Given the description of an element on the screen output the (x, y) to click on. 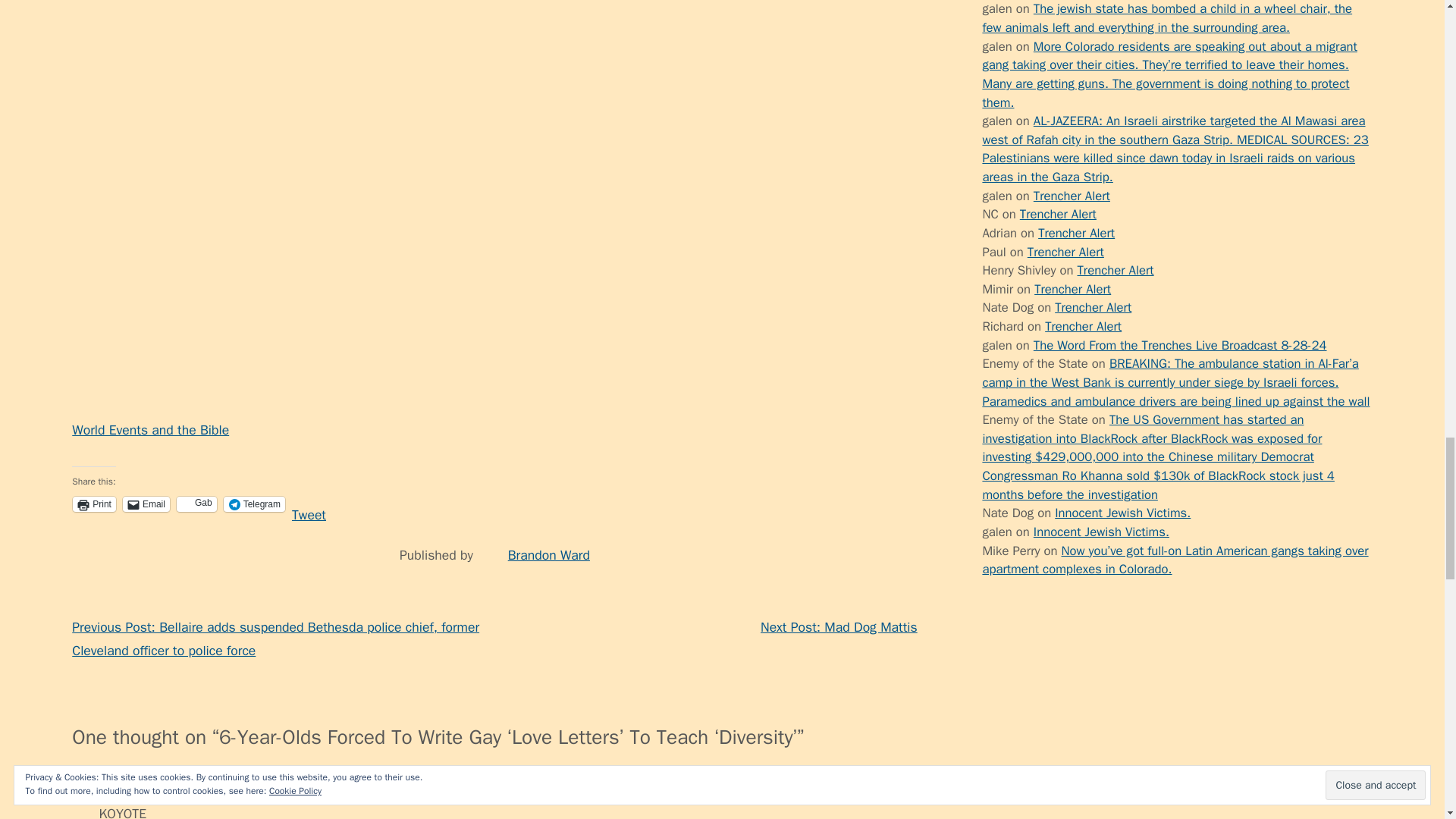
porno (997, 45)
Click to print (94, 503)
Click to email a link to a friend (146, 503)
Click to share on Telegram (254, 503)
Click to share on Gab (196, 503)
